Given the description of an element on the screen output the (x, y) to click on. 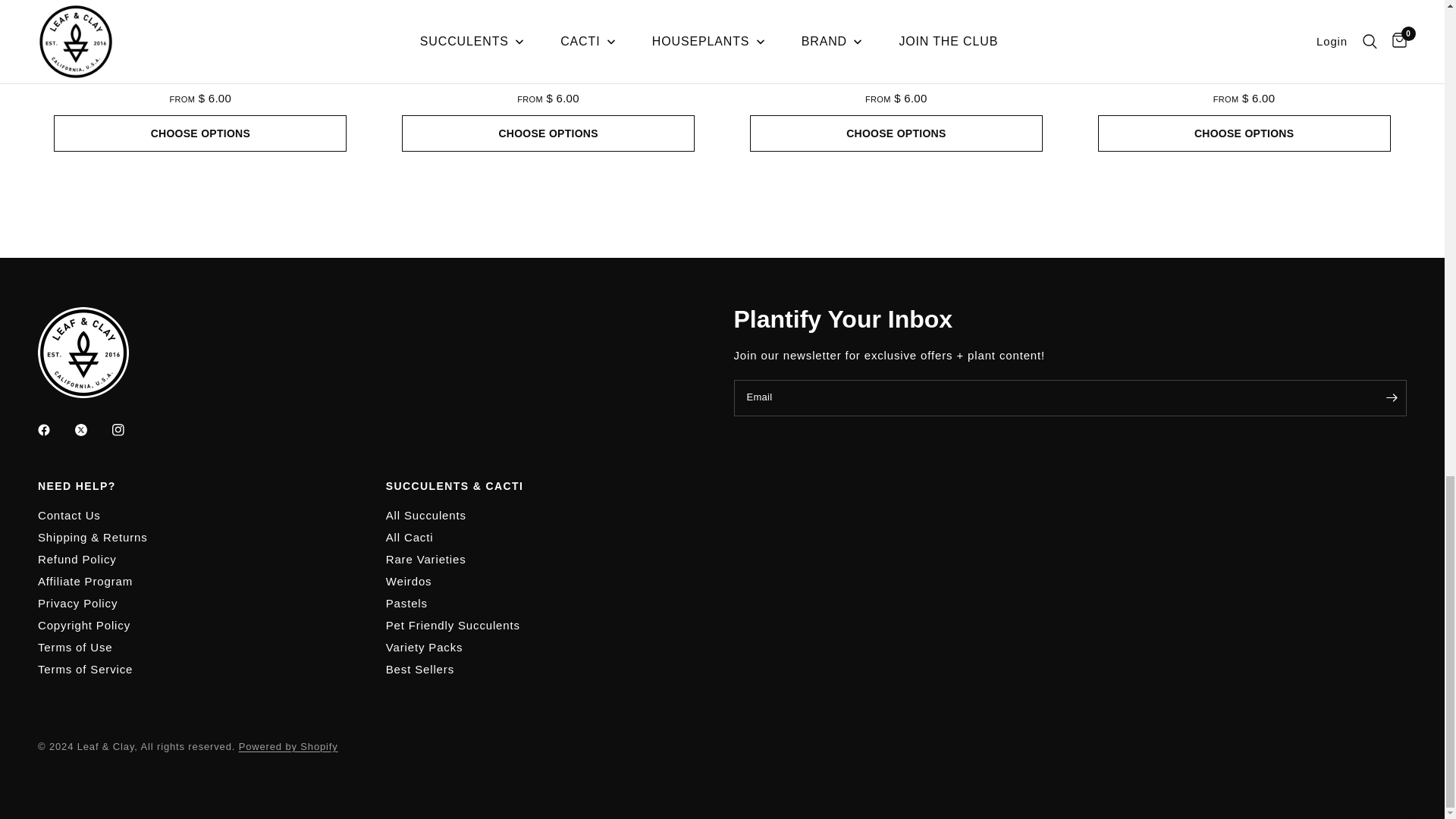
GRAPTOSEDUM 'ALPENGLOW' (547, 79)
Kalanchoe humilis 'Desert Surprise' (895, 79)
Kalanchoe humilis 'Desert Surprise' (896, 28)
Graptosedum 'Alpenglow' (547, 79)
AEONIUM 'SUNBURST' (199, 79)
Aeonium 'Sunburst' (199, 28)
Twitter (91, 429)
KALANCHOE HUMILIS 'DESERT SURPRISE' (895, 79)
Senecio rowleyanus 'String of Pearls' (1243, 79)
Aeonium 'Sunburst' (199, 79)
Facebook (54, 429)
Senecio rowleyanus 'String of Pearls' (1243, 28)
Instagram (128, 429)
Graptosedum 'Alpenglow' (548, 28)
